Given the description of an element on the screen output the (x, y) to click on. 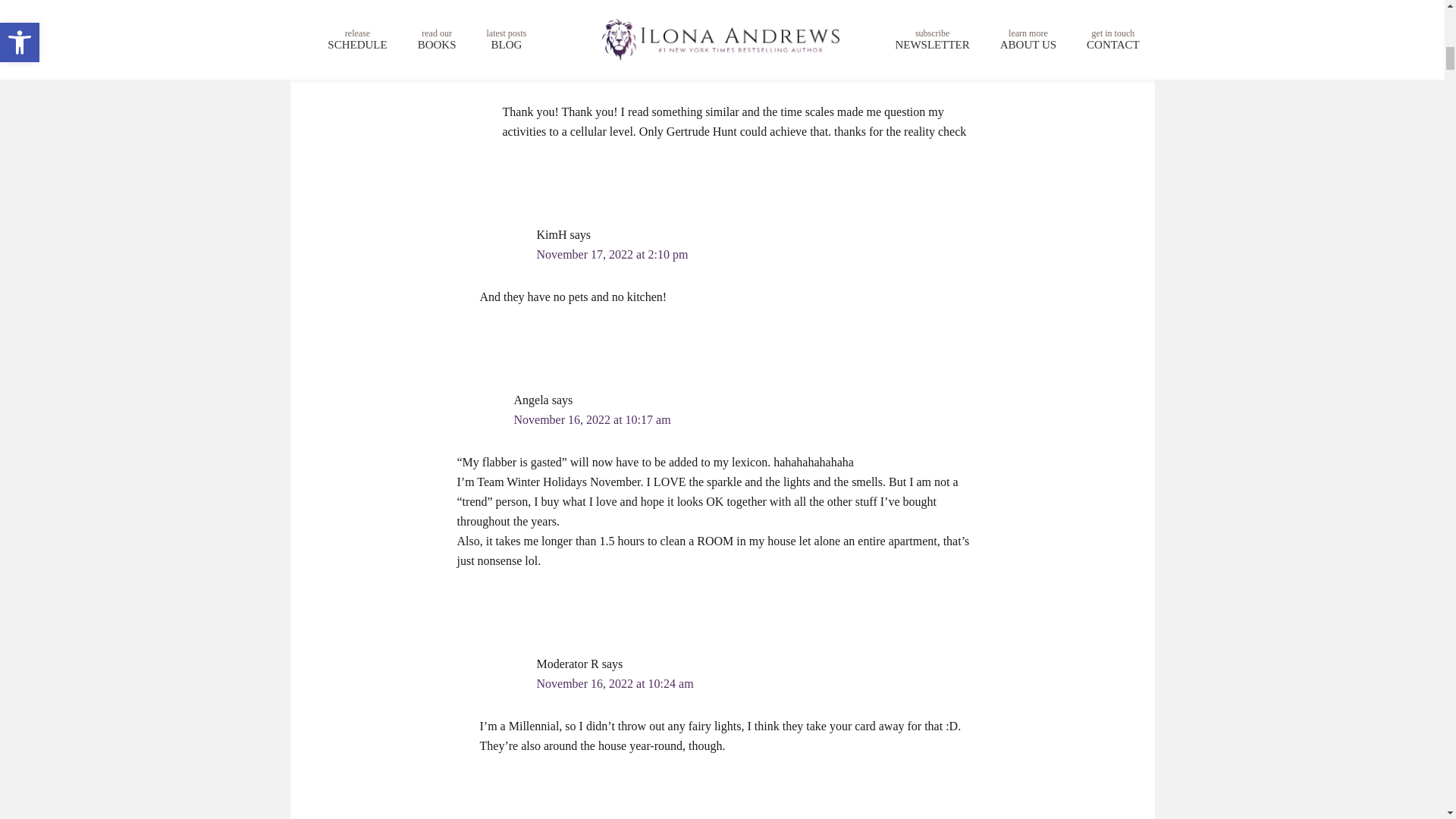
November 16, 2022 at 11:11 am (637, 69)
November 16, 2022 at 10:17 am (592, 419)
November 16, 2022 at 10:24 am (615, 683)
November 17, 2022 at 2:10 pm (612, 254)
